Given the description of an element on the screen output the (x, y) to click on. 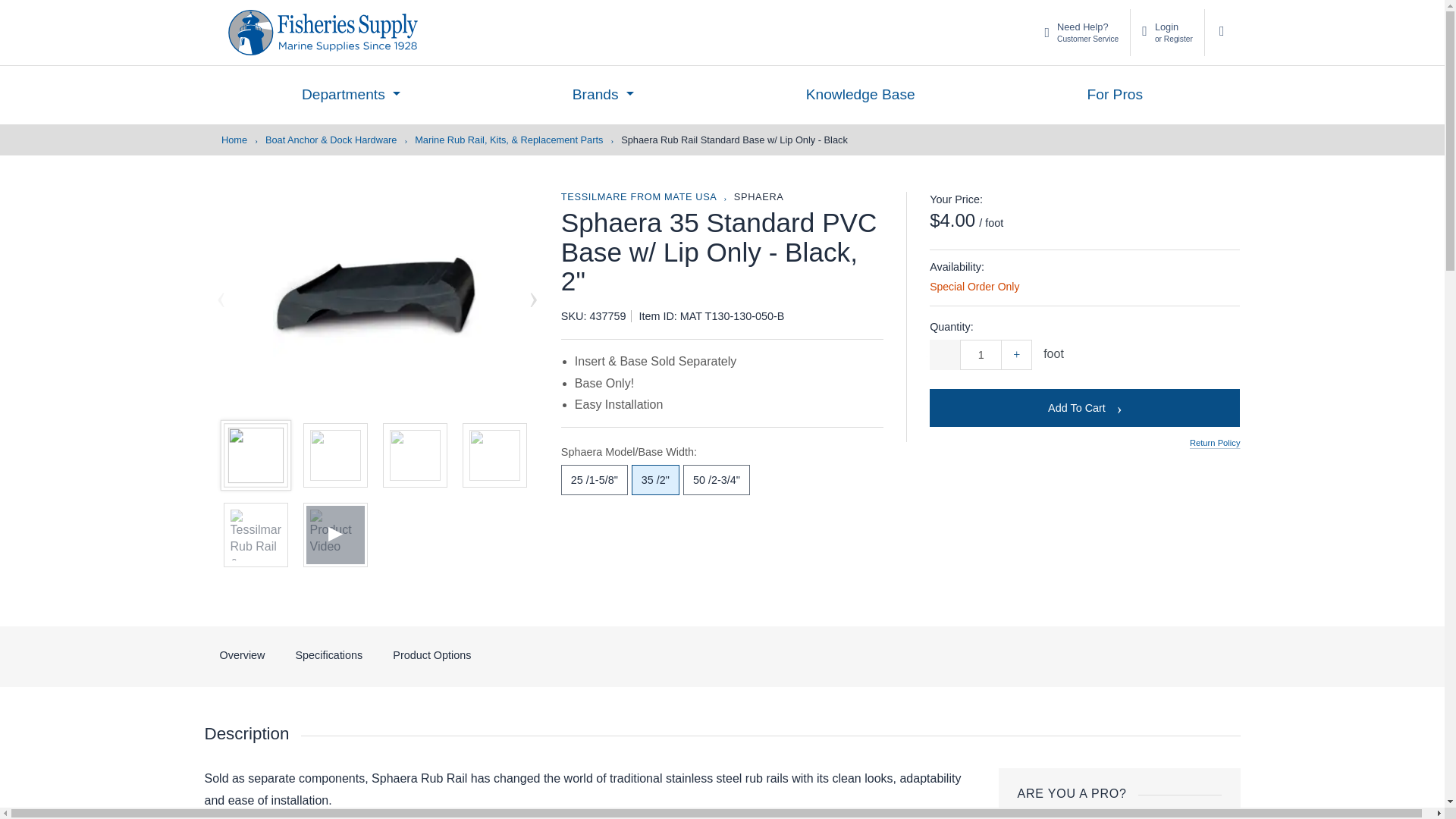
1 (980, 354)
